Given the description of an element on the screen output the (x, y) to click on. 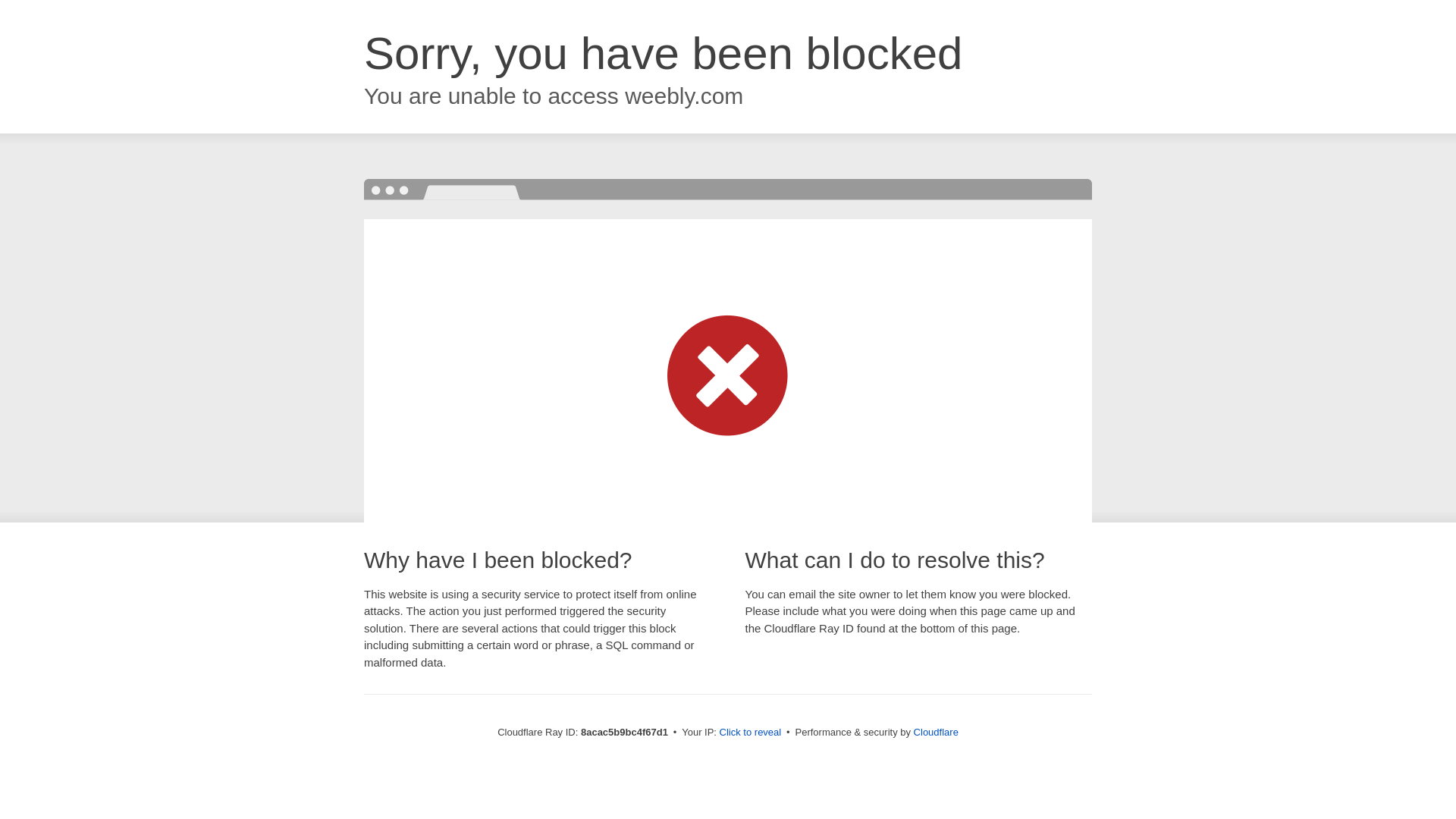
Click to reveal (750, 732)
Cloudflare (936, 731)
